Given the description of an element on the screen output the (x, y) to click on. 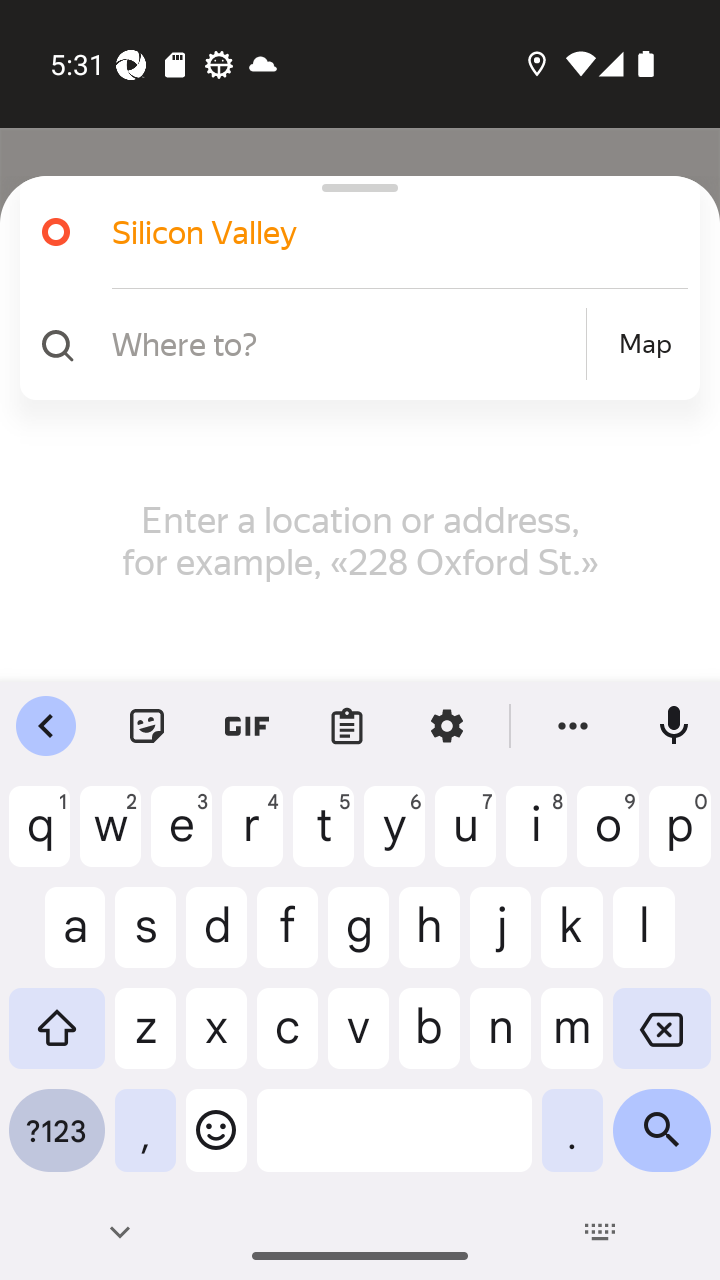
Silicon Valley (352, 232)
Silicon Valley (373, 232)
Where to? Map Map (352, 343)
Map (645, 343)
Where to? (346, 343)
